Given the description of an element on the screen output the (x, y) to click on. 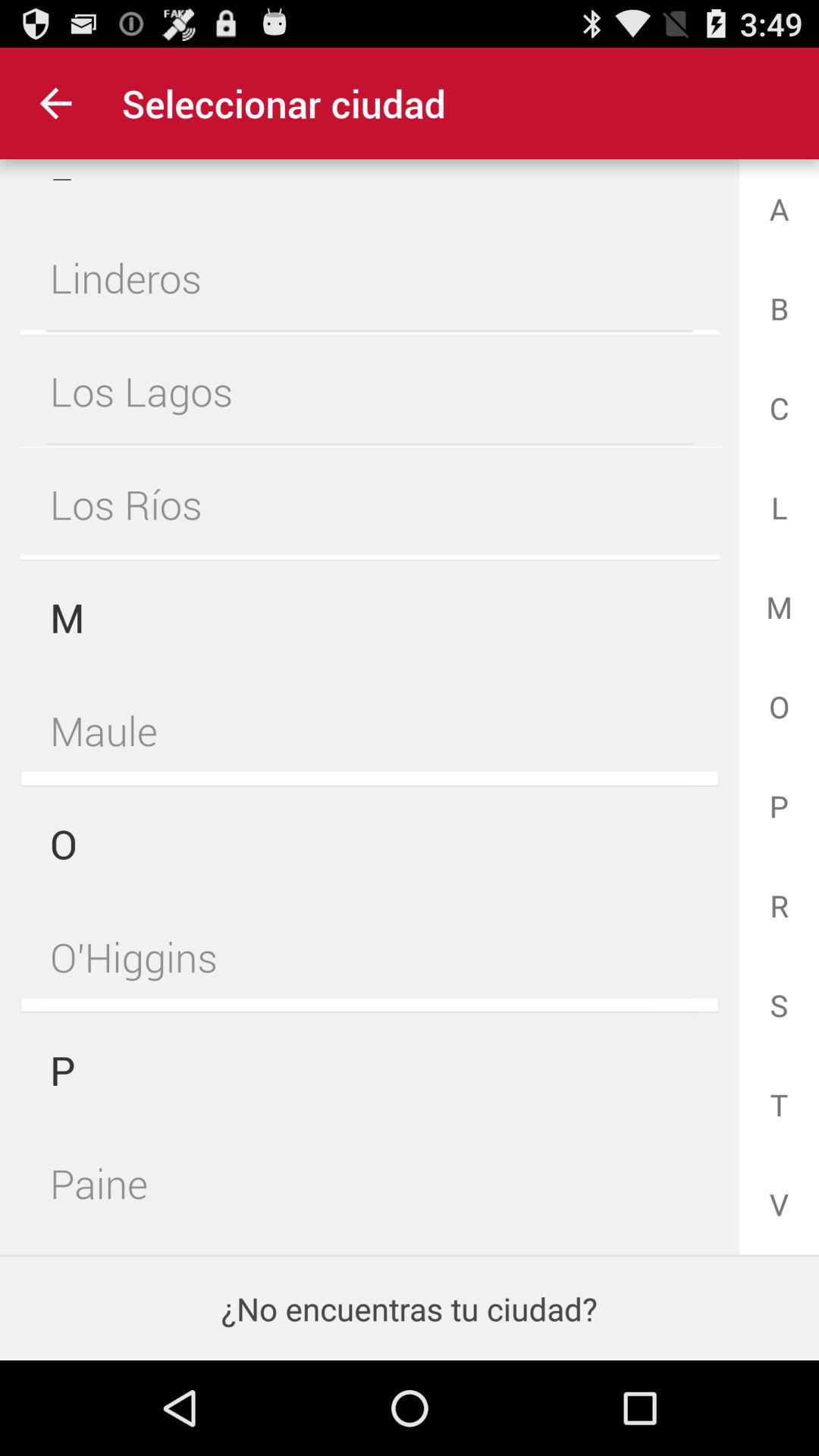
turn on the item next to the o item (369, 730)
